Given the description of an element on the screen output the (x, y) to click on. 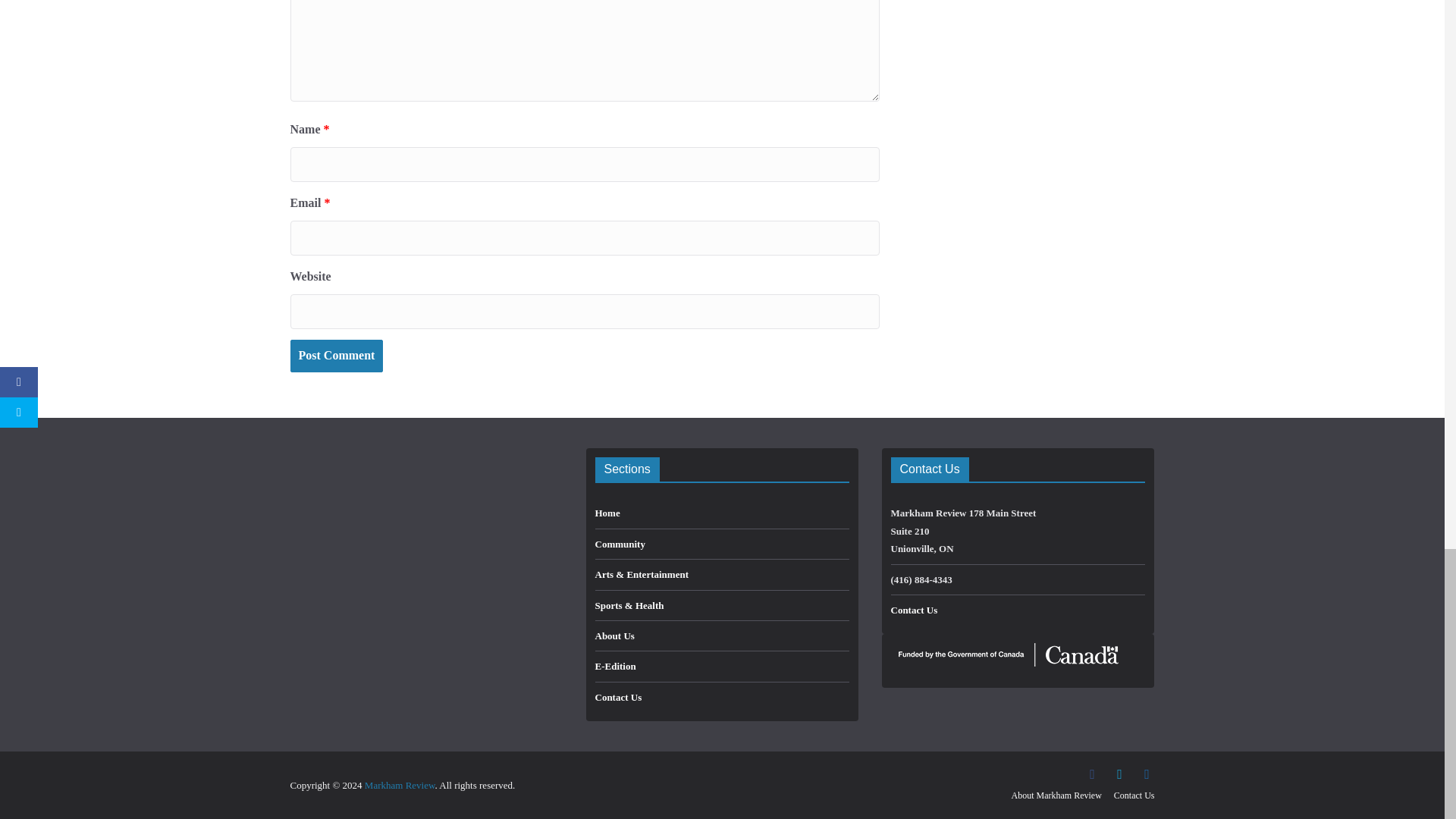
Post Comment (335, 355)
Post Comment (335, 355)
